Given the description of an element on the screen output the (x, y) to click on. 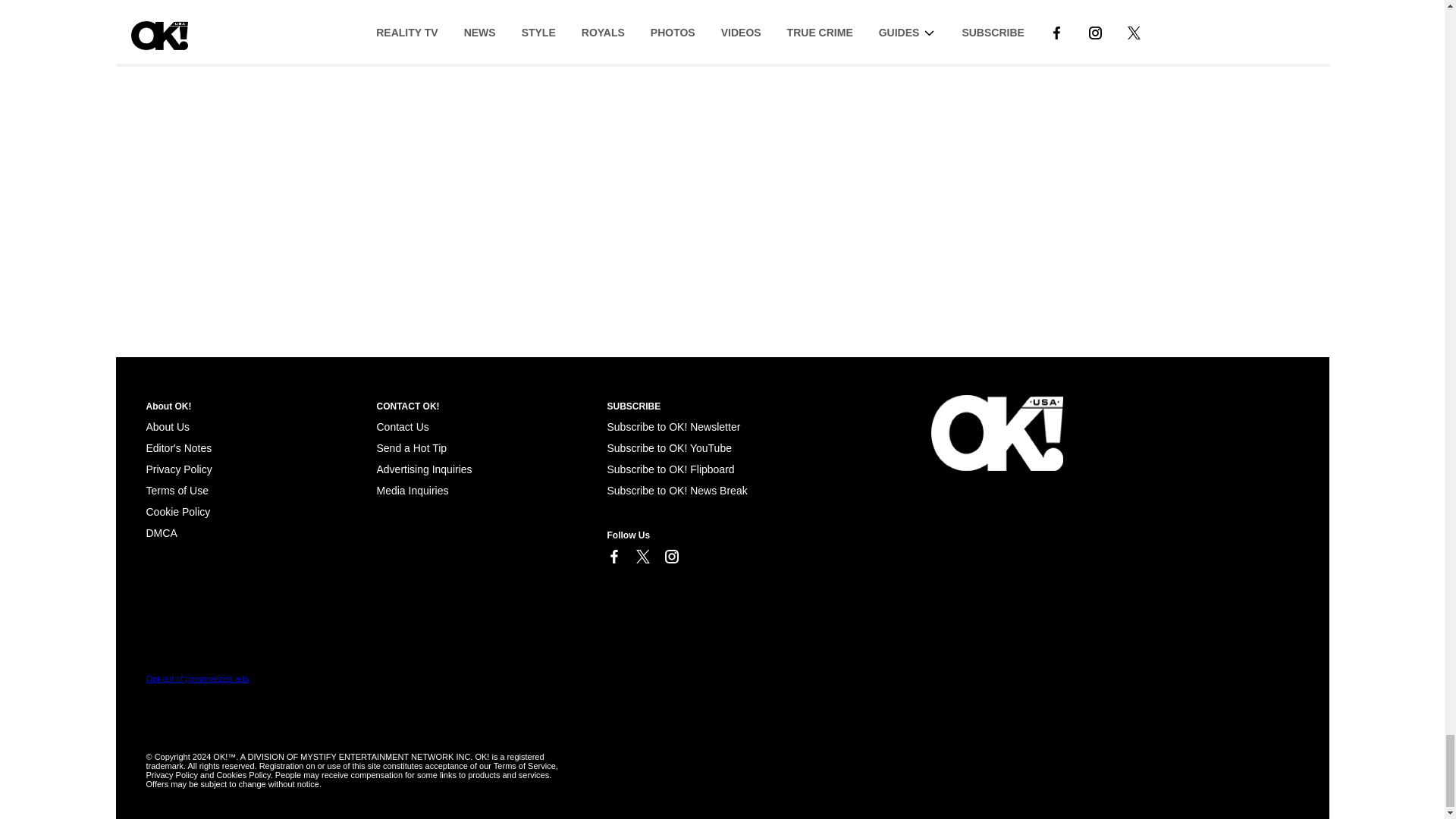
About Us (167, 426)
Send a Hot Tip (410, 448)
Editor's Notes (178, 448)
Cookie Policy (160, 532)
Link to X (641, 556)
Link to Facebook (613, 556)
Privacy Policy (178, 469)
Terms of Use (176, 490)
Cookie Policy (177, 511)
Link to Instagram (670, 556)
